Given the description of an element on the screen output the (x, y) to click on. 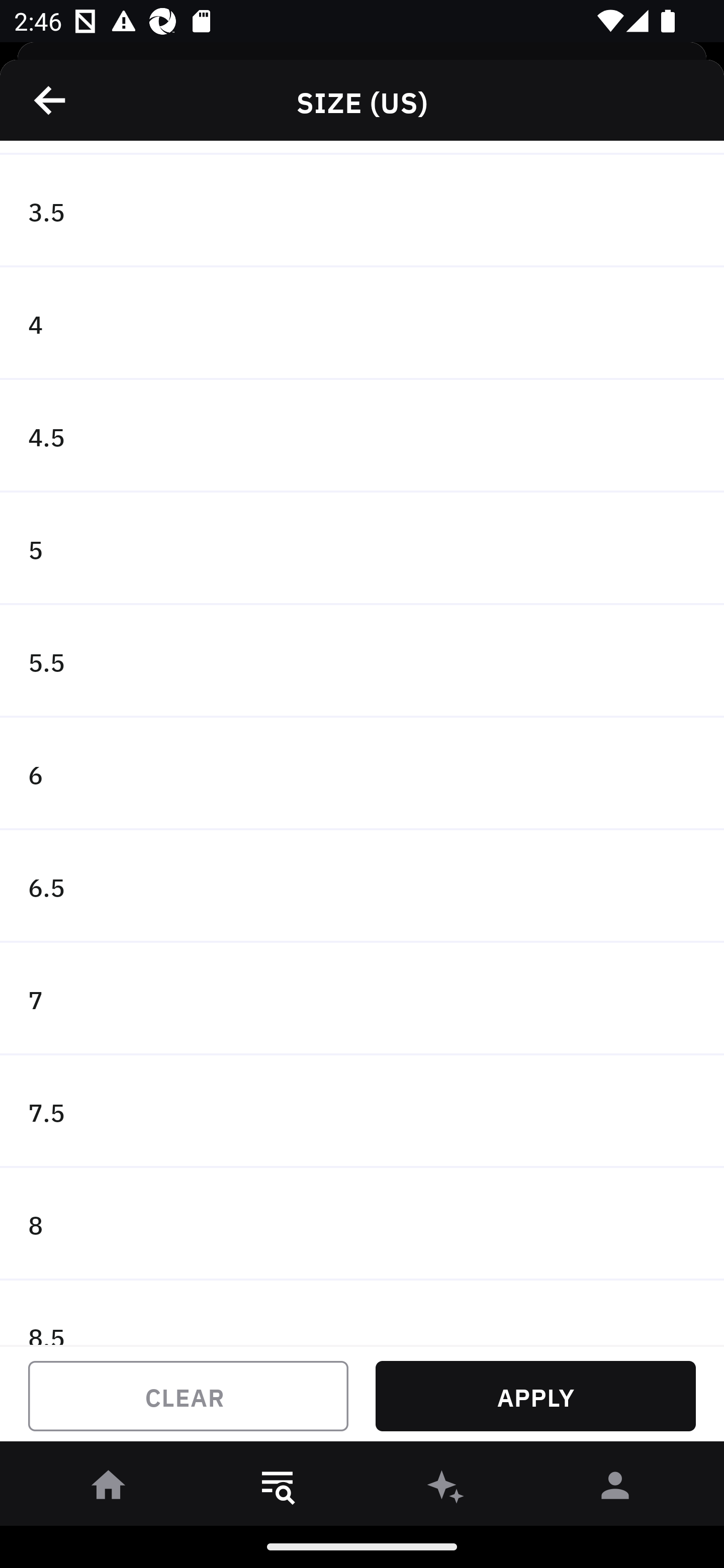
 (50, 100)
3.5 (362, 211)
4 (362, 323)
4.5 (362, 435)
5 (362, 548)
5.5 (362, 661)
6 (362, 773)
6.5 (362, 885)
7 (362, 998)
7.5 (362, 1111)
8 (362, 1224)
CLEAR  (188, 1396)
APPLY (535, 1396)
󰋜 (108, 1488)
󱎸 (277, 1488)
󰫢 (446, 1488)
󰀄 (615, 1488)
